Given the description of an element on the screen output the (x, y) to click on. 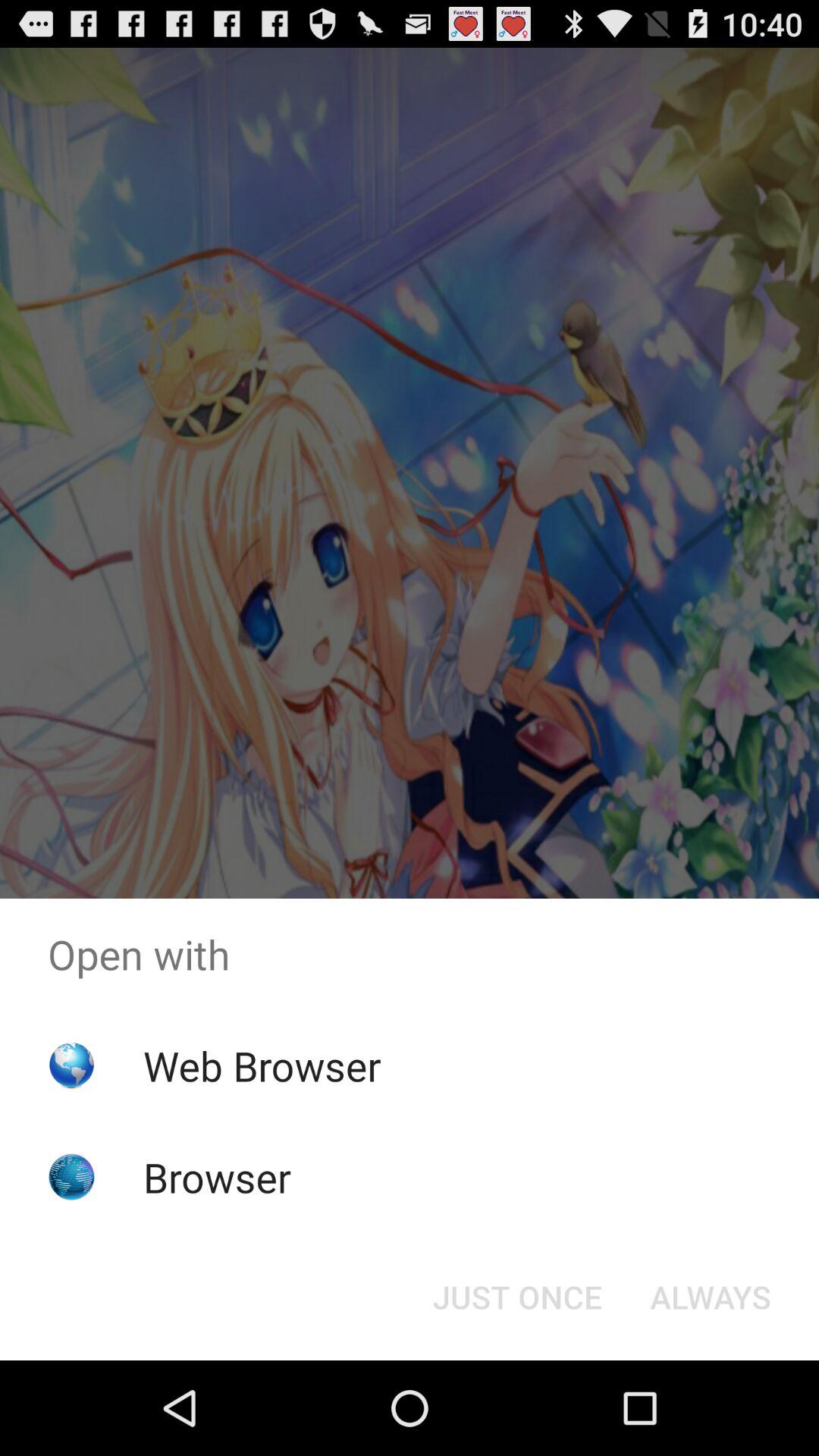
select item to the right of just once icon (710, 1296)
